Given the description of an element on the screen output the (x, y) to click on. 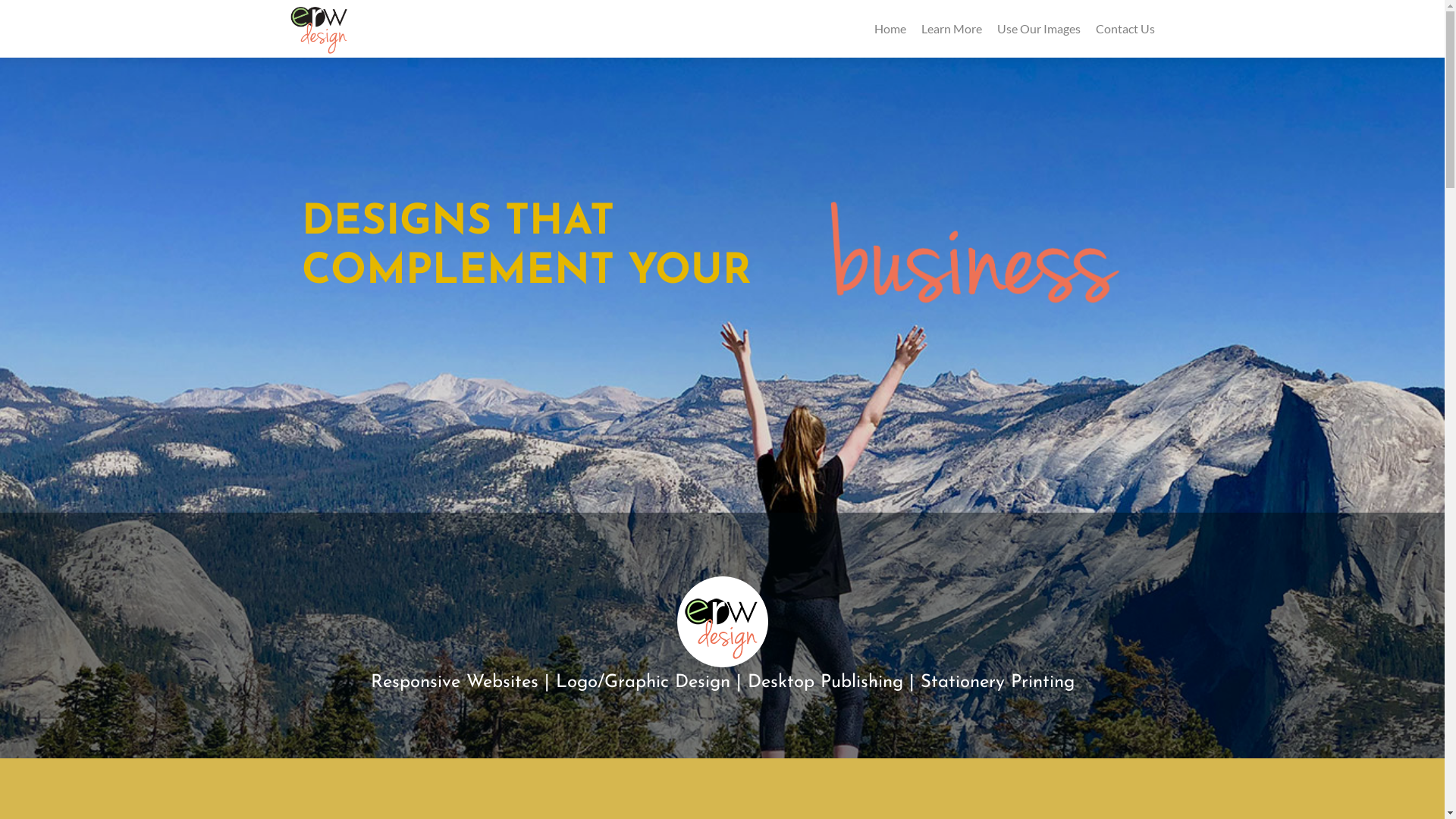
Learn More Element type: text (950, 28)
Contact Us Element type: text (1124, 28)
Skip to content Element type: text (6, 12)
Home Element type: text (889, 28)
Use Our Images Element type: text (1037, 28)
